Given the description of an element on the screen output the (x, y) to click on. 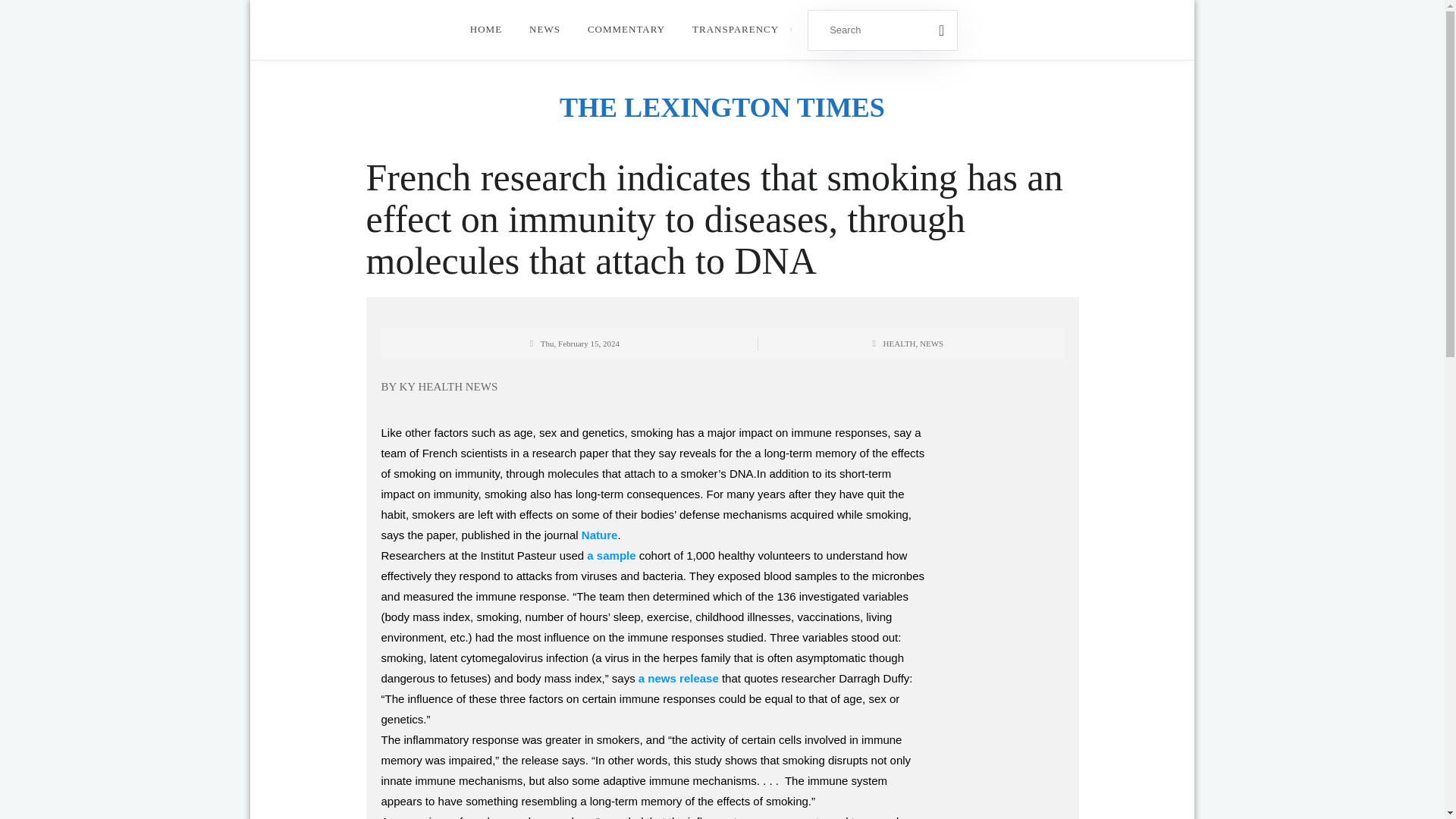
HOME (486, 29)
COMMENTARY (625, 29)
TRANSPARENCY (735, 29)
NEWS (544, 29)
THE LEXINGTON TIMES (722, 107)
